Given the description of an element on the screen output the (x, y) to click on. 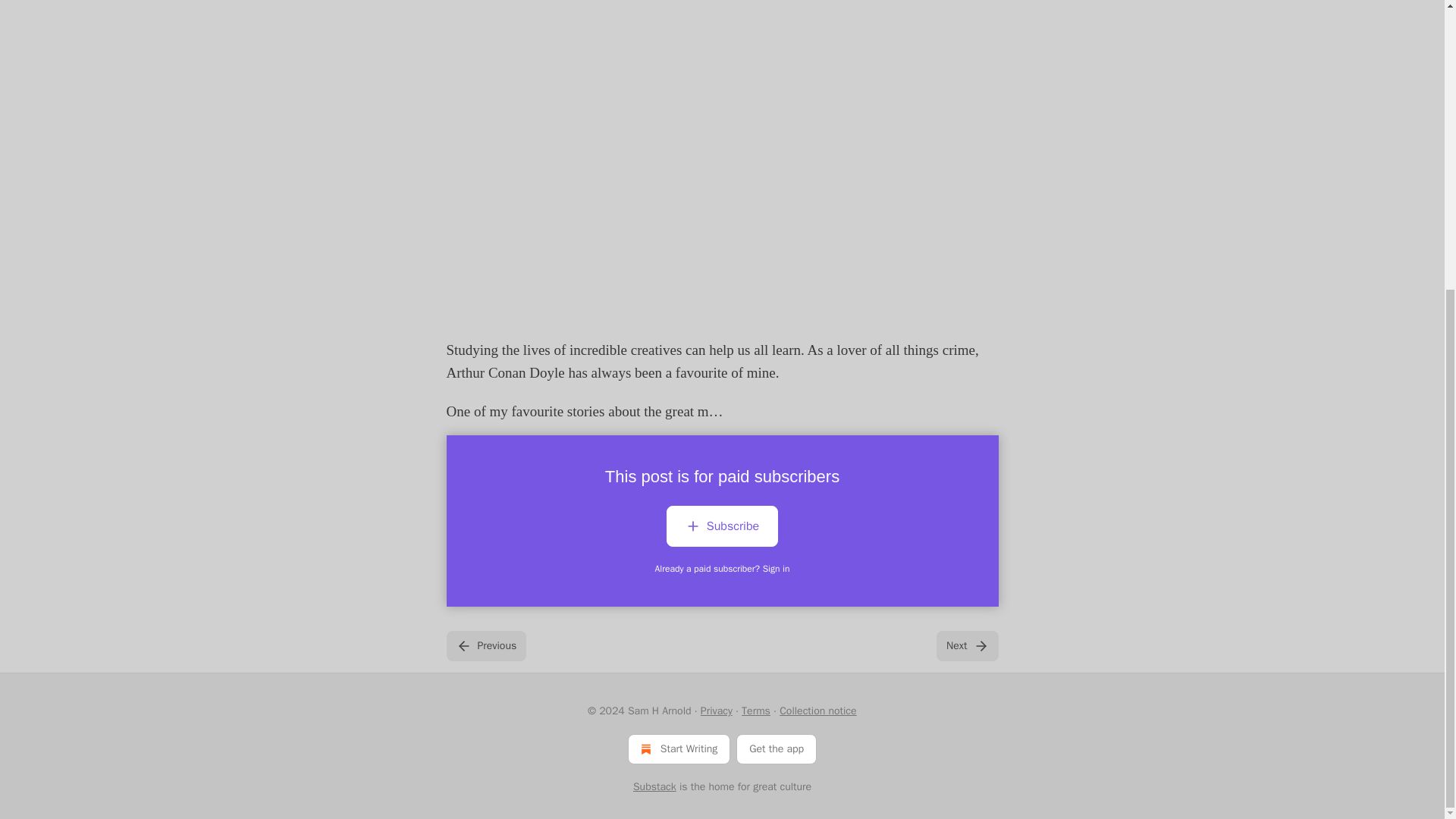
Start Writing (678, 748)
Privacy (716, 710)
Terms (755, 710)
Already a paid subscriber? Sign in (722, 568)
Subscribe (721, 529)
Substack (655, 786)
Subscribe (721, 526)
Previous (485, 645)
Get the app (776, 748)
Next (966, 645)
Collection notice (817, 710)
